Given the description of an element on the screen output the (x, y) to click on. 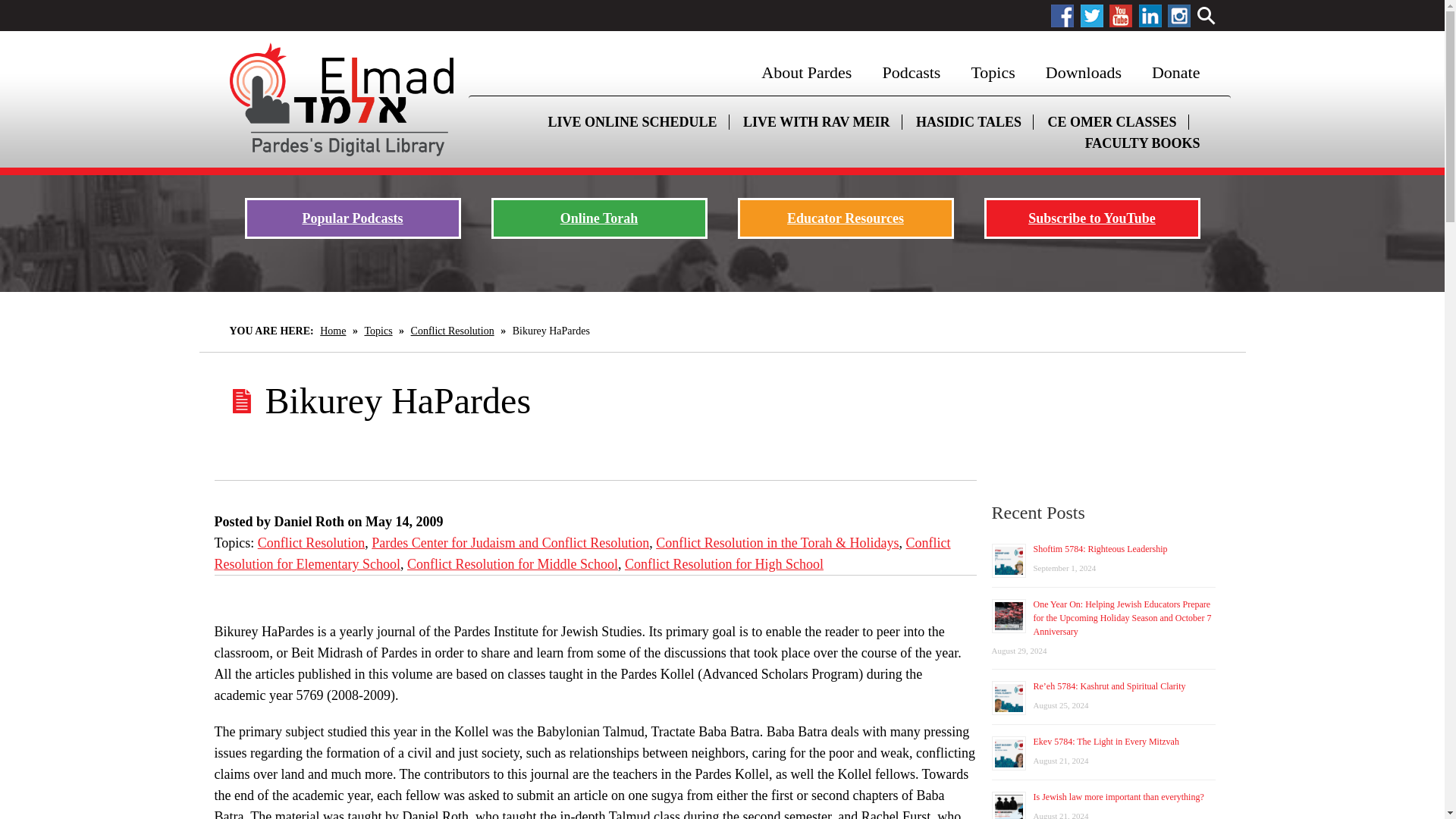
Return to the homepage (340, 99)
About Pardes (805, 72)
Podcasts (910, 72)
